Given the description of an element on the screen output the (x, y) to click on. 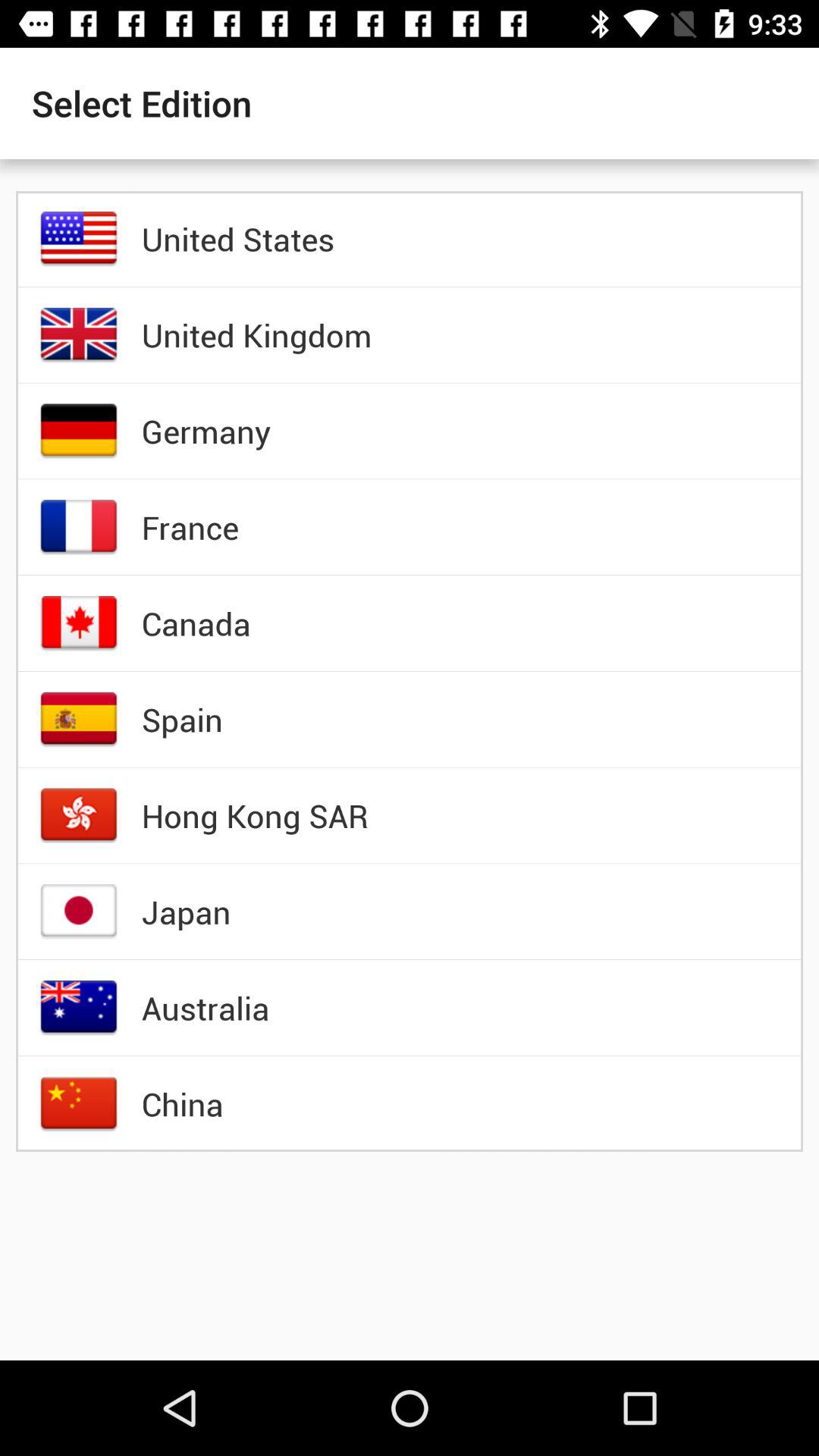
choose the canada (195, 623)
